Given the description of an element on the screen output the (x, y) to click on. 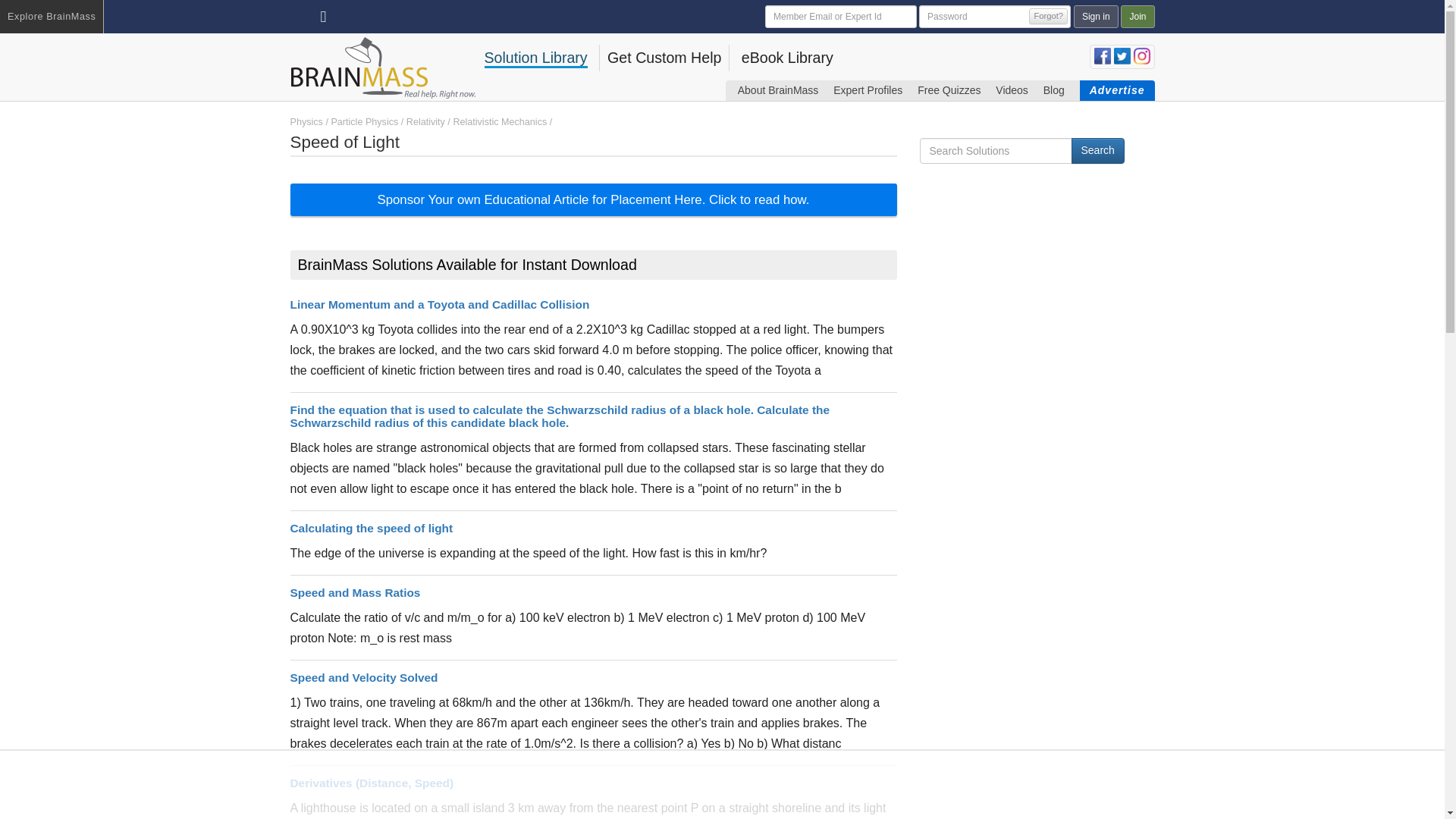
Get Custom Help (663, 57)
Relativistic Mechanics (499, 122)
Free Quizzes (948, 90)
About BrainMass (778, 90)
Relativity (425, 122)
eBook Library (786, 57)
Speed of Light (343, 141)
Physics (305, 122)
Speed and Mass Ratios (354, 592)
Videos (1011, 90)
Advertise (1117, 90)
Expert Profiles (867, 90)
Calculating the speed of light (370, 527)
